Given the description of an element on the screen output the (x, y) to click on. 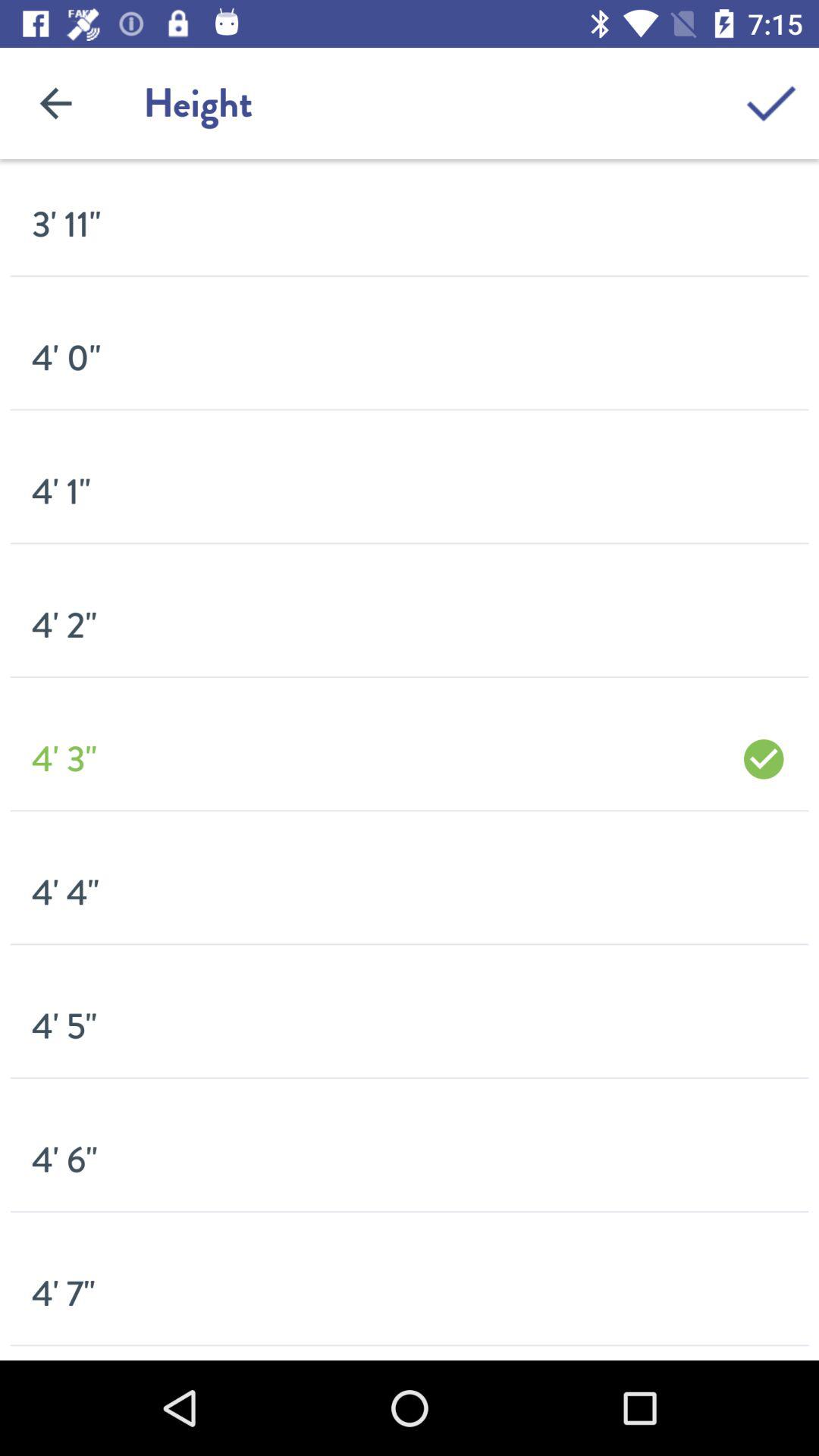
tap the item to the right of the 4' 3" item (763, 759)
